Given the description of an element on the screen output the (x, y) to click on. 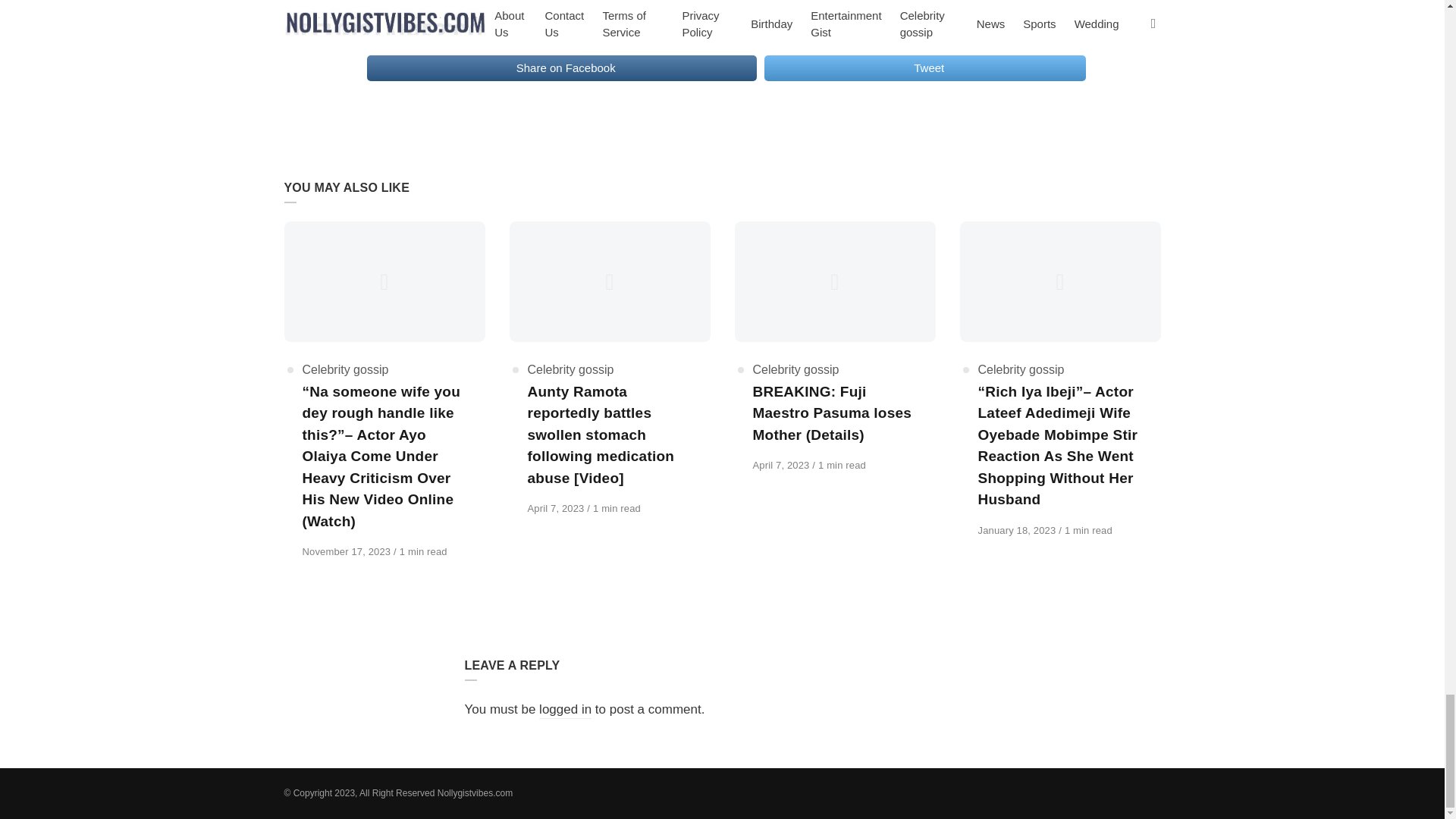
November 17, 2023 (347, 551)
Celebrity gossip (795, 369)
Celebrity gossip (344, 369)
April 7, 2023 (557, 508)
Celebrity gossip (1021, 369)
April 7, 2023 (782, 464)
logged in (564, 710)
Share on Facebook (561, 68)
November 17, 2023 (347, 551)
Celebrity gossip (570, 369)
January 18, 2023 (1018, 530)
Tweet (925, 68)
April 7, 2023 (557, 508)
January 18, 2023 (1018, 530)
April 7, 2023 (782, 464)
